Given the description of an element on the screen output the (x, y) to click on. 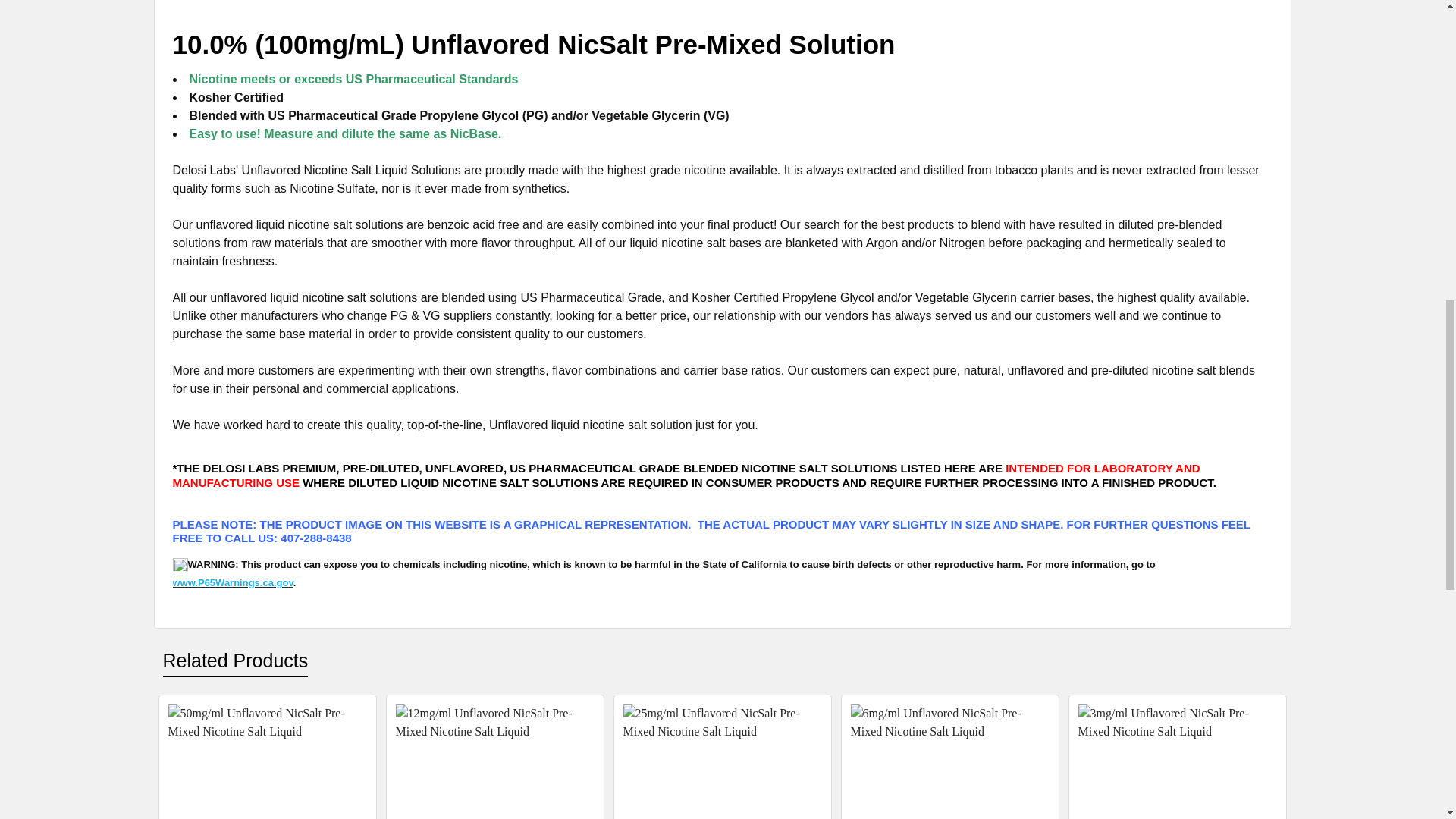
warning-icon.jpg (180, 563)
